Given the description of an element on the screen output the (x, y) to click on. 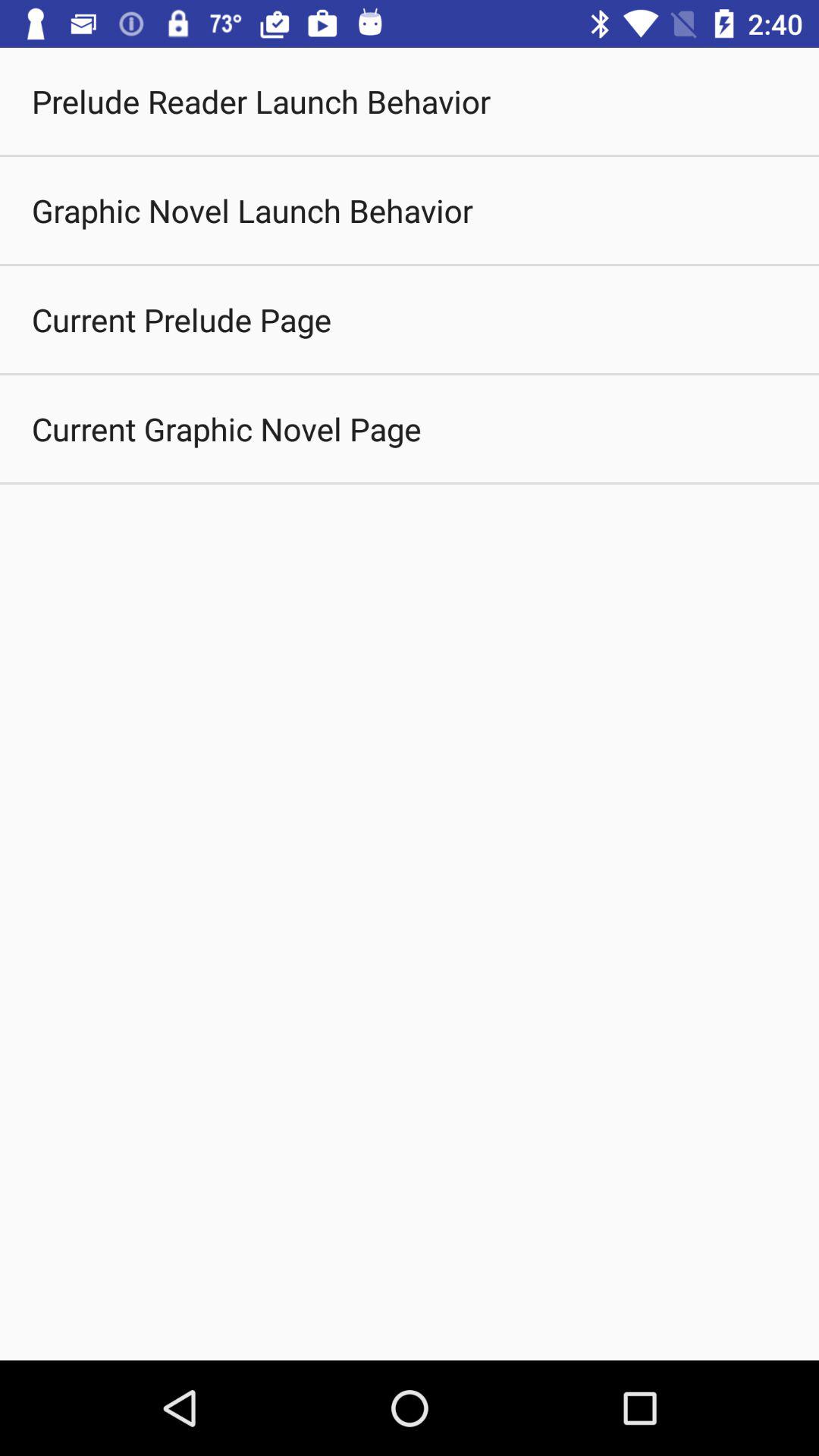
scroll to prelude reader launch (260, 100)
